Given the description of an element on the screen output the (x, y) to click on. 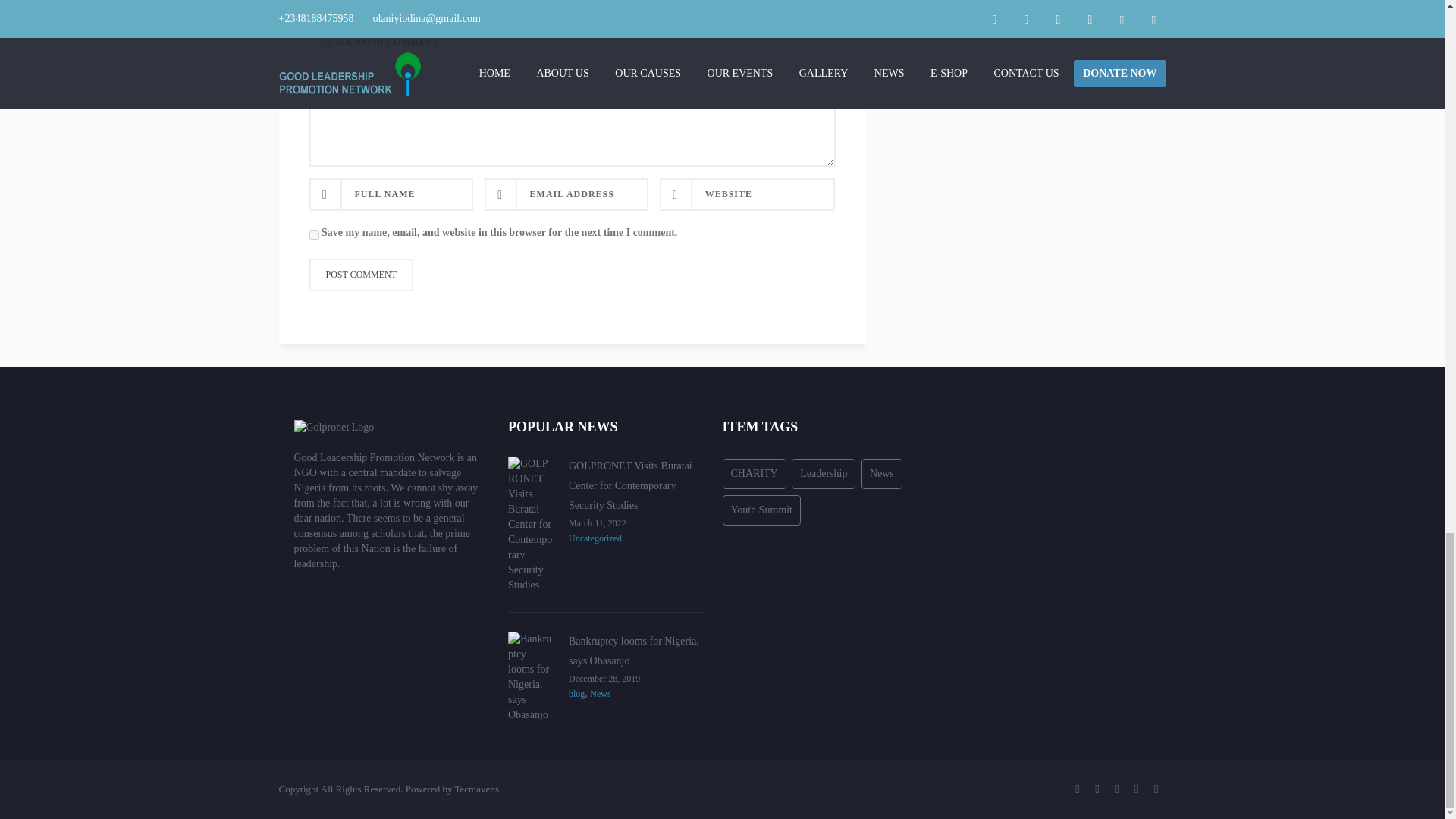
POST COMMENT (360, 274)
POST COMMENT (360, 274)
yes (313, 234)
